Given the description of an element on the screen output the (x, y) to click on. 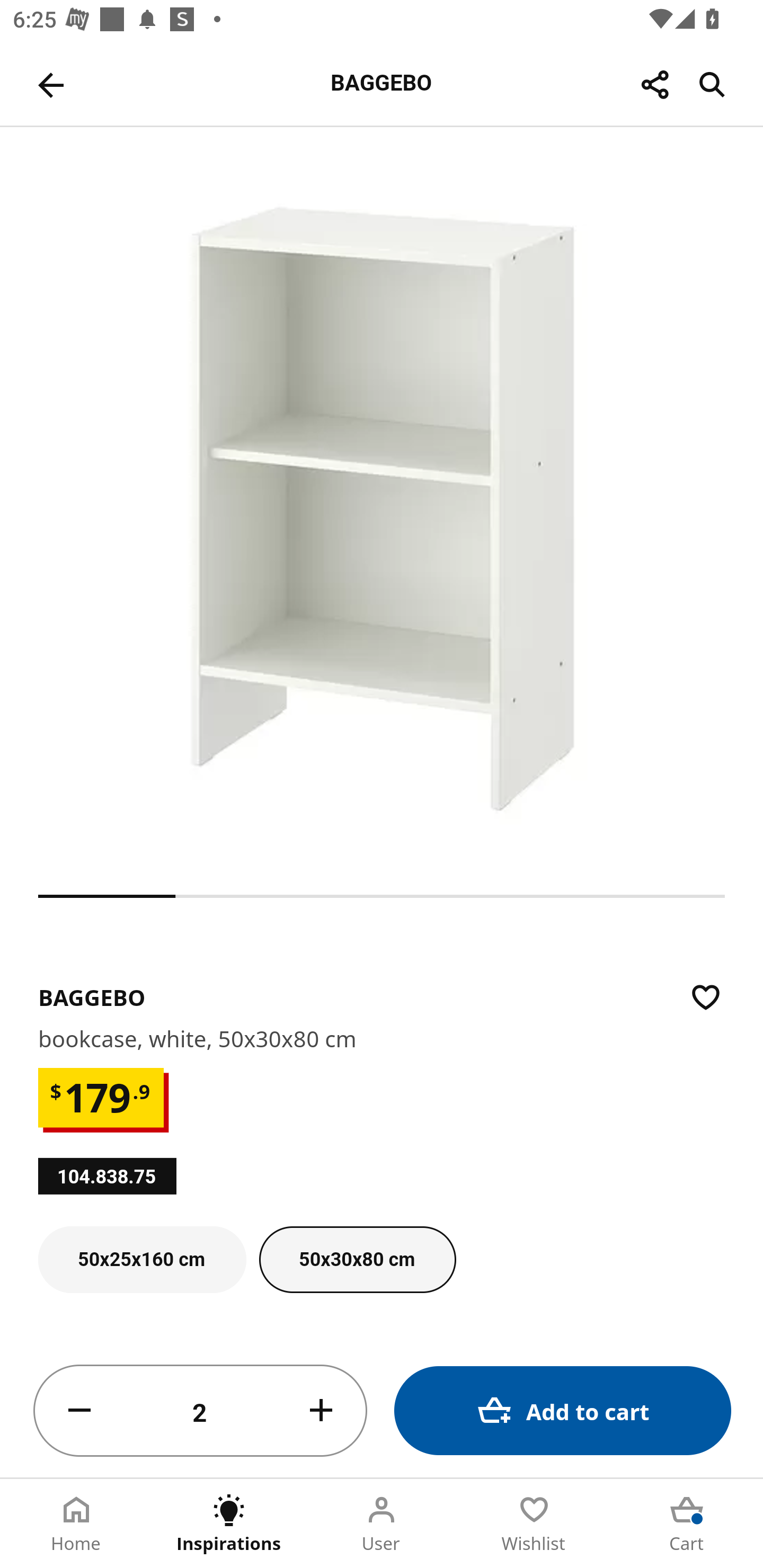
50x25x160 cm (142, 1259)
50x30x80 cm (357, 1259)
Add to cart (562, 1410)
2 (200, 1411)
Home
Tab 1 of 5 (76, 1522)
Inspirations
Tab 2 of 5 (228, 1522)
User
Tab 3 of 5 (381, 1522)
Wishlist
Tab 4 of 5 (533, 1522)
Cart
Tab 5 of 5 (686, 1522)
